Given the description of an element on the screen output the (x, y) to click on. 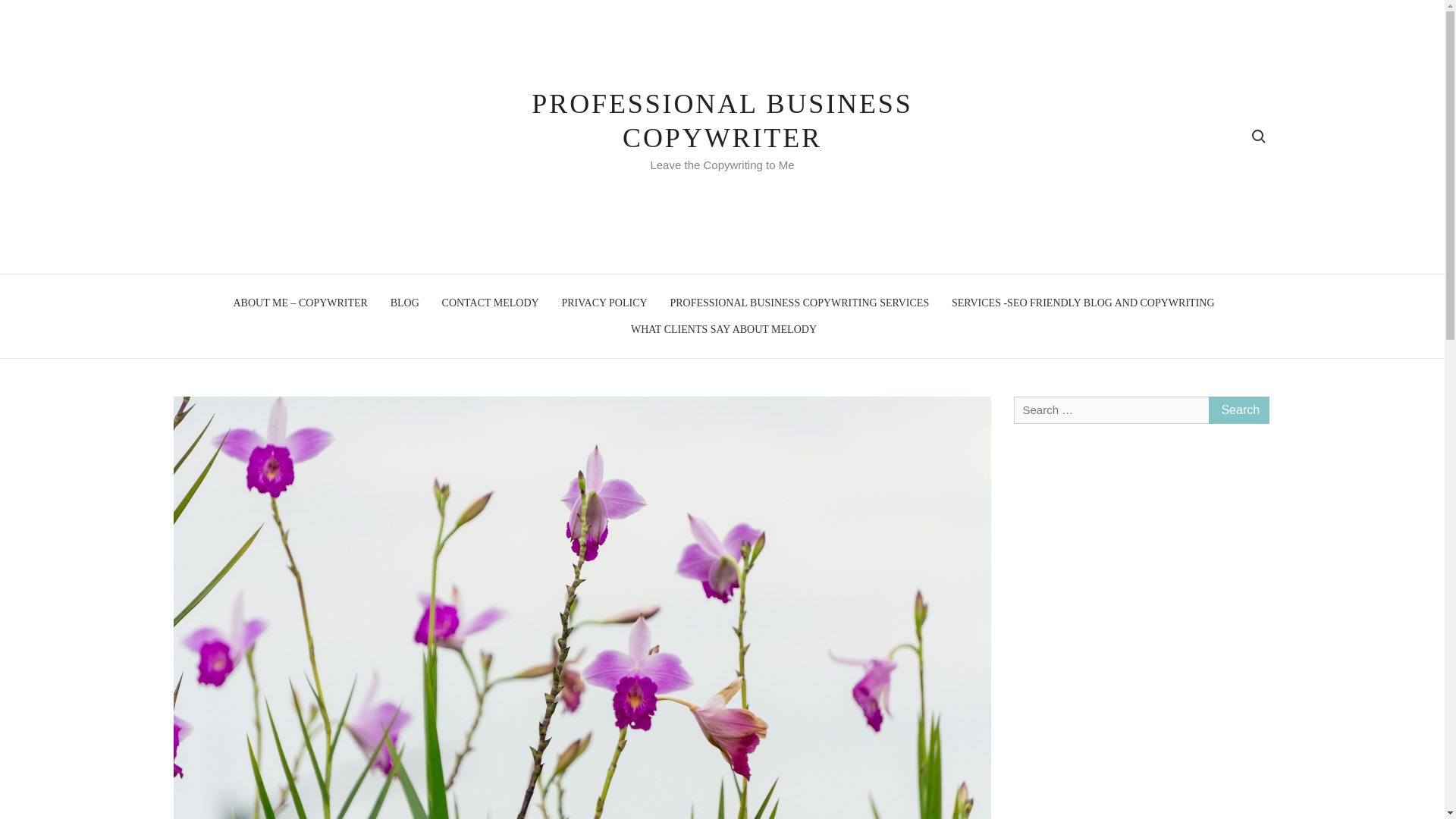
WHAT CLIENTS SAY ABOUT MELODY (724, 328)
PROFESSIONAL BUSINESS COPYWRITING SERVICES (799, 302)
PRIVACY POLICY (604, 302)
Search (1238, 409)
Search (1238, 409)
Search (1238, 409)
SERVICES -SEO FRIENDLY BLOG AND COPYWRITING (1082, 302)
PROFESSIONAL BUSINESS COPYWRITER (721, 120)
Search for: (1257, 136)
CONTACT MELODY (490, 302)
